Given the description of an element on the screen output the (x, y) to click on. 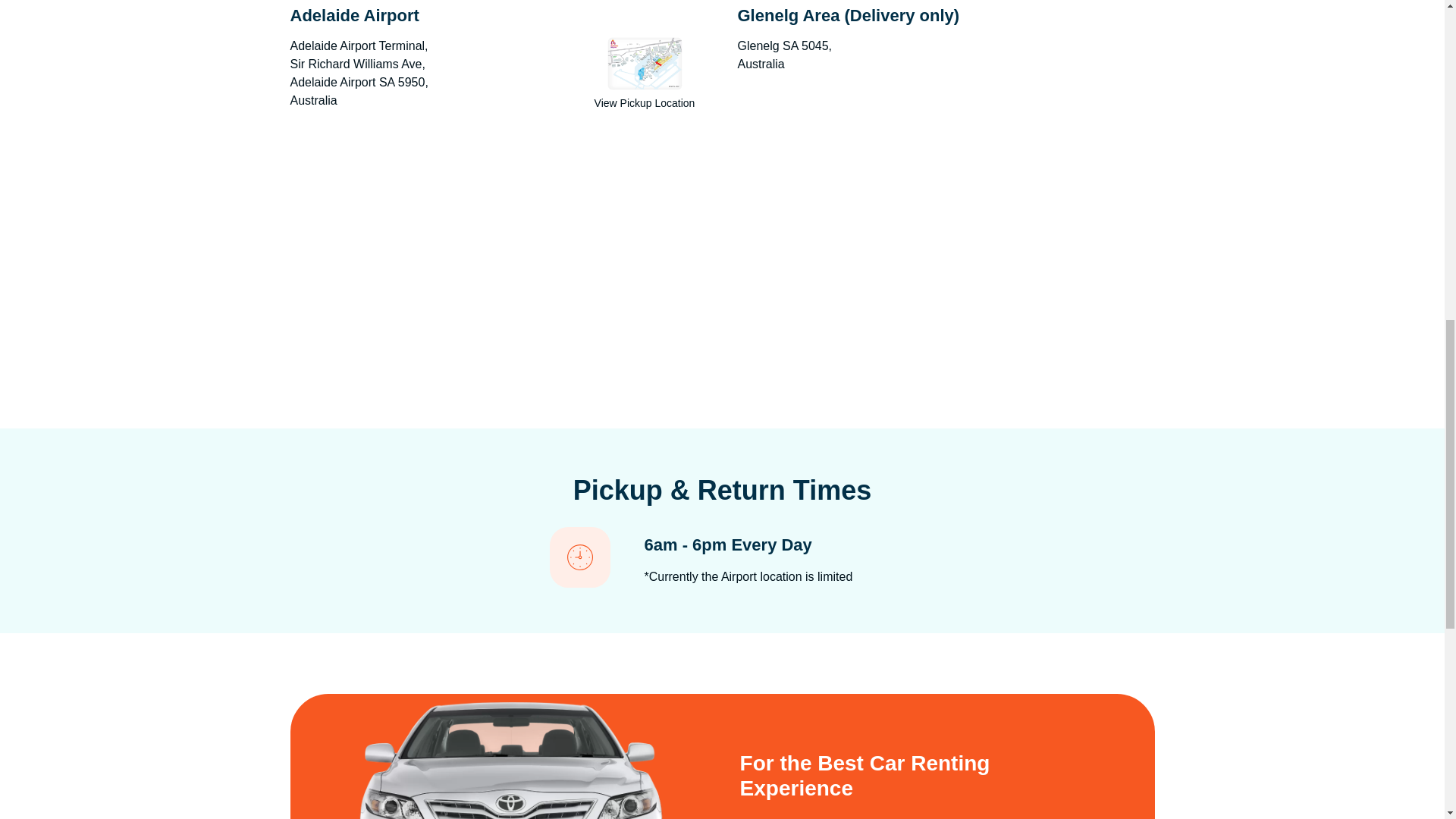
Glenelg (945, 253)
Adelaide Airport (497, 253)
